Given the description of an element on the screen output the (x, y) to click on. 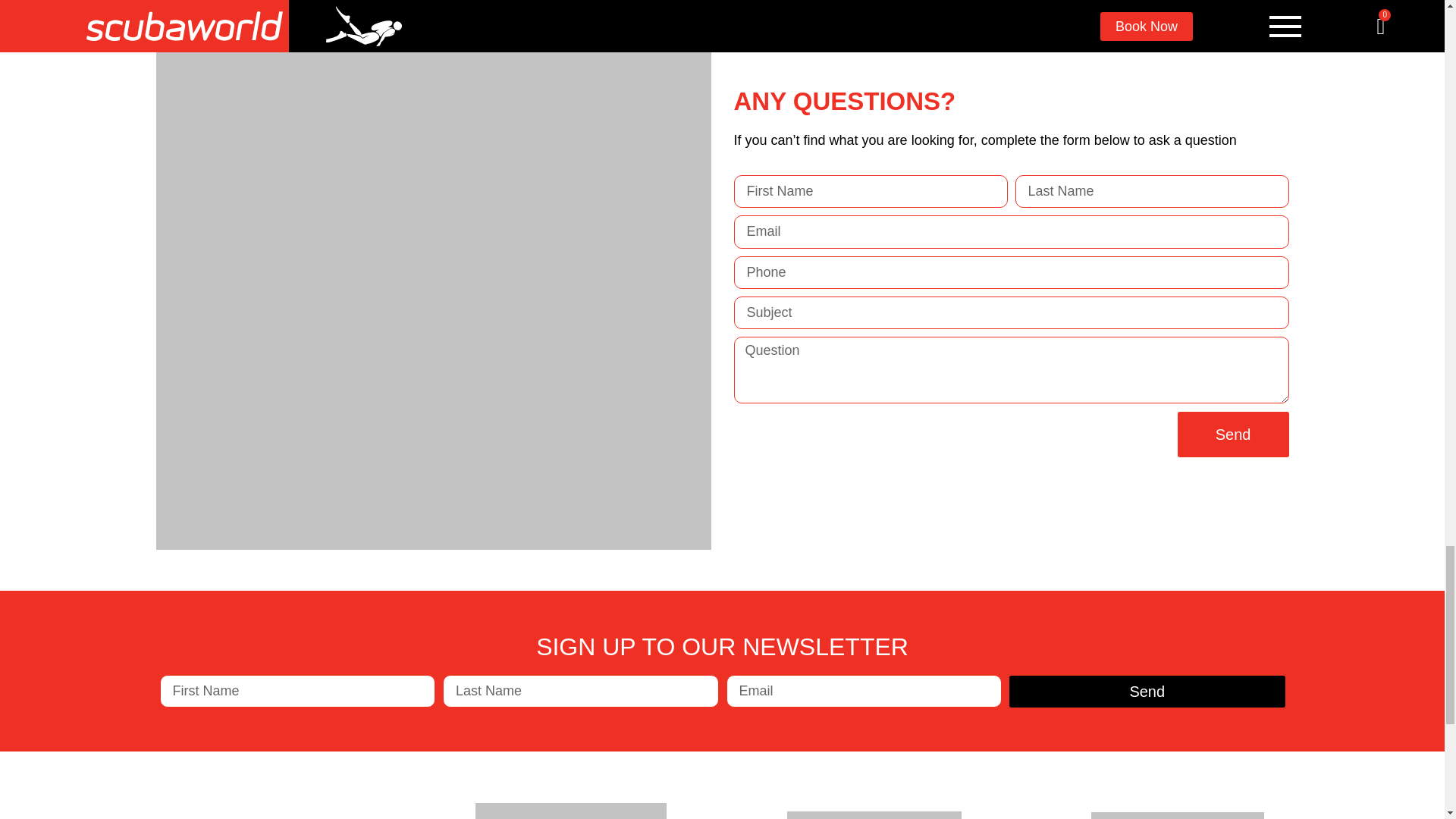
Send (1232, 434)
Send (1147, 691)
